Given the description of an element on the screen output the (x, y) to click on. 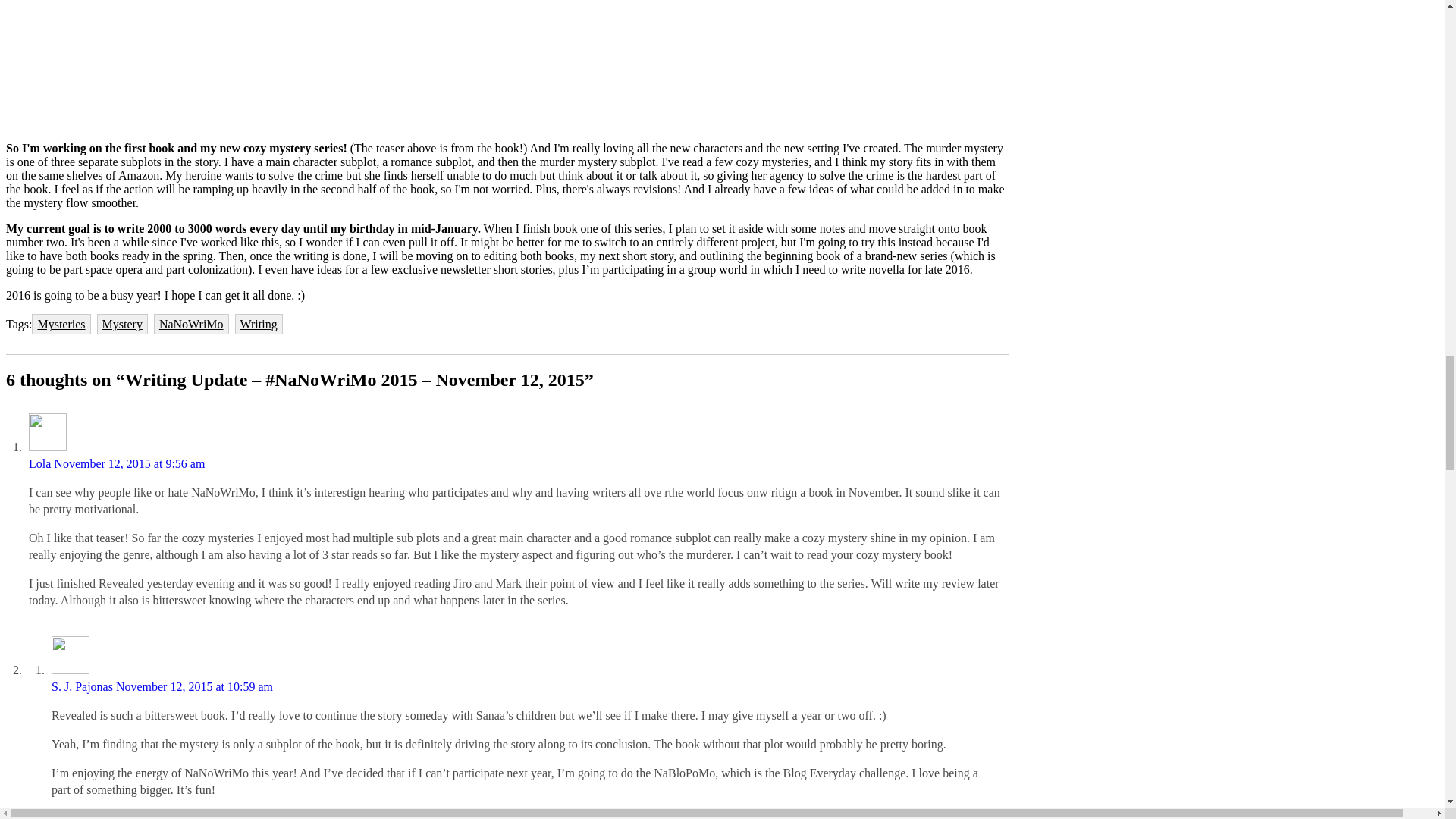
Mysteries (61, 323)
Mystery (122, 323)
NaNoWriMo (191, 323)
Writing (258, 323)
